Given the description of an element on the screen output the (x, y) to click on. 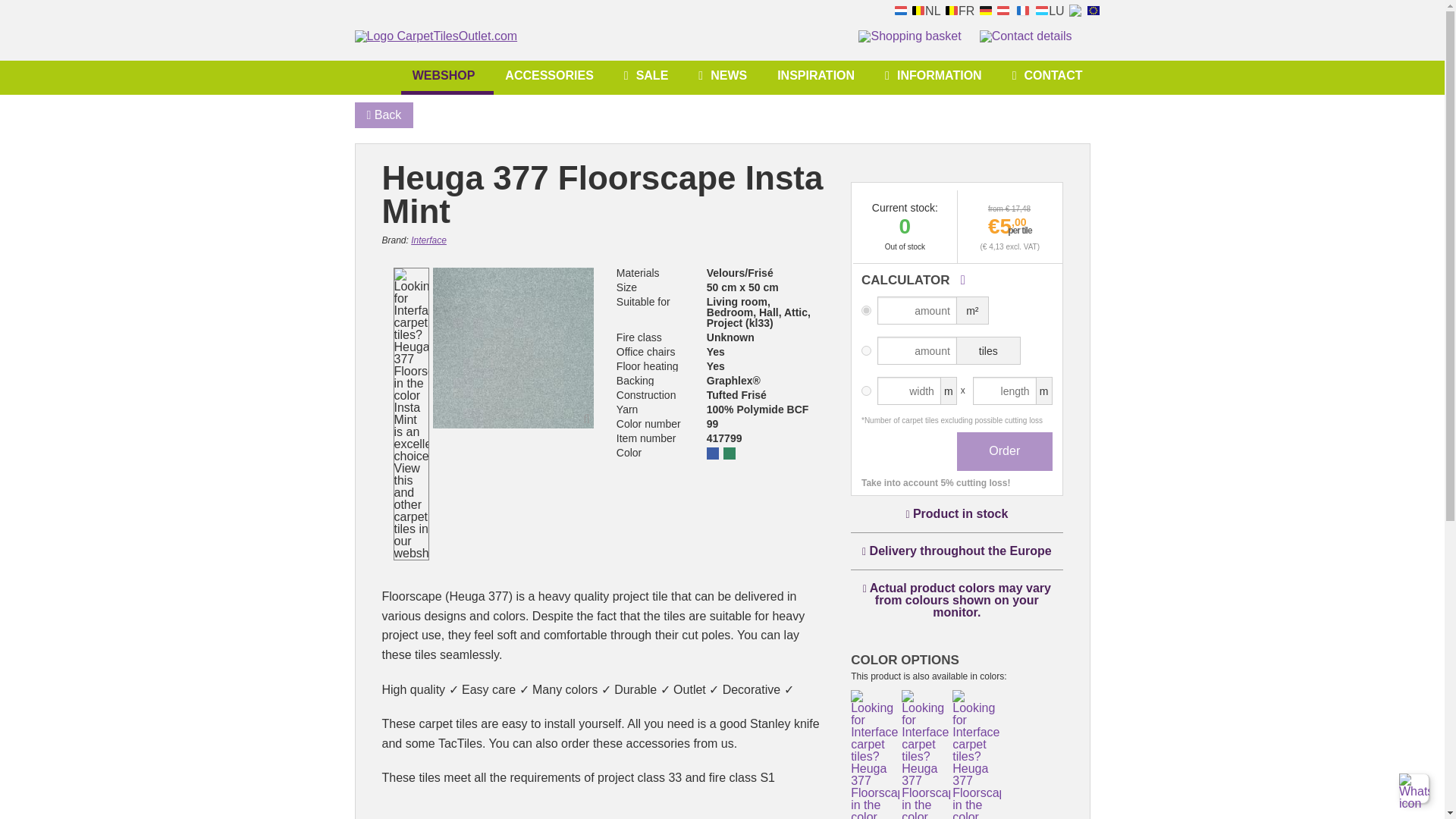
on (865, 350)
INFORMATION (937, 75)
Shopping basket (909, 41)
NL (925, 9)
SALE (649, 75)
ACCESSORIES (552, 75)
WEBSHOP (448, 77)
INSPIRATION (819, 75)
Contact details (1025, 41)
Blue (712, 453)
on (865, 310)
NEWS (726, 75)
on (865, 390)
LU (1048, 9)
FR (959, 9)
